Given the description of an element on the screen output the (x, y) to click on. 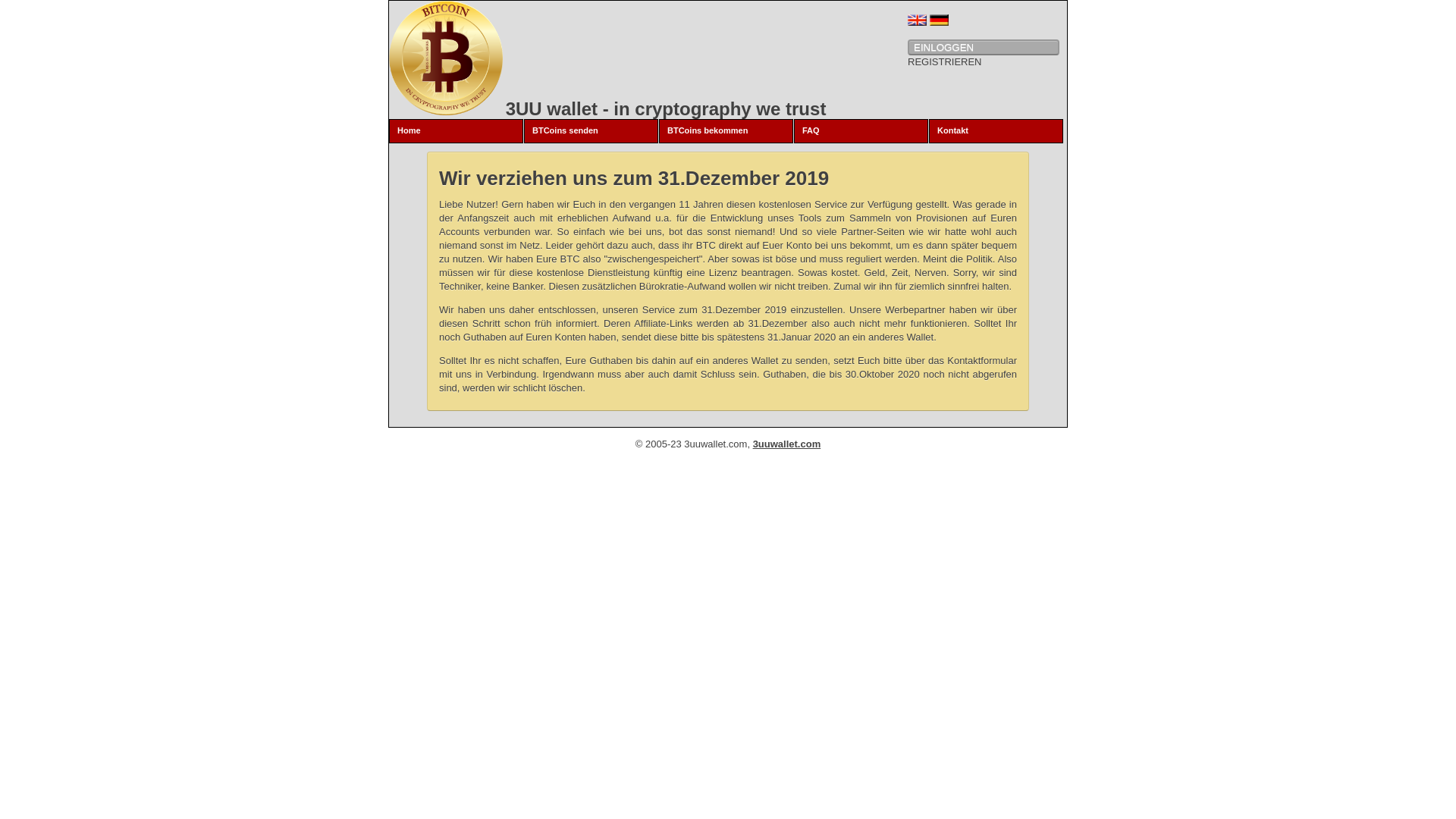
Kontakt Element type: text (995, 131)
Home Element type: text (456, 131)
BTCoins senden Element type: text (591, 131)
EINLOGGEN Element type: text (983, 47)
FAQ Element type: text (860, 131)
BTCoins bekommen Element type: text (725, 131)
3uuwallet.com Element type: text (787, 443)
